Given the description of an element on the screen output the (x, y) to click on. 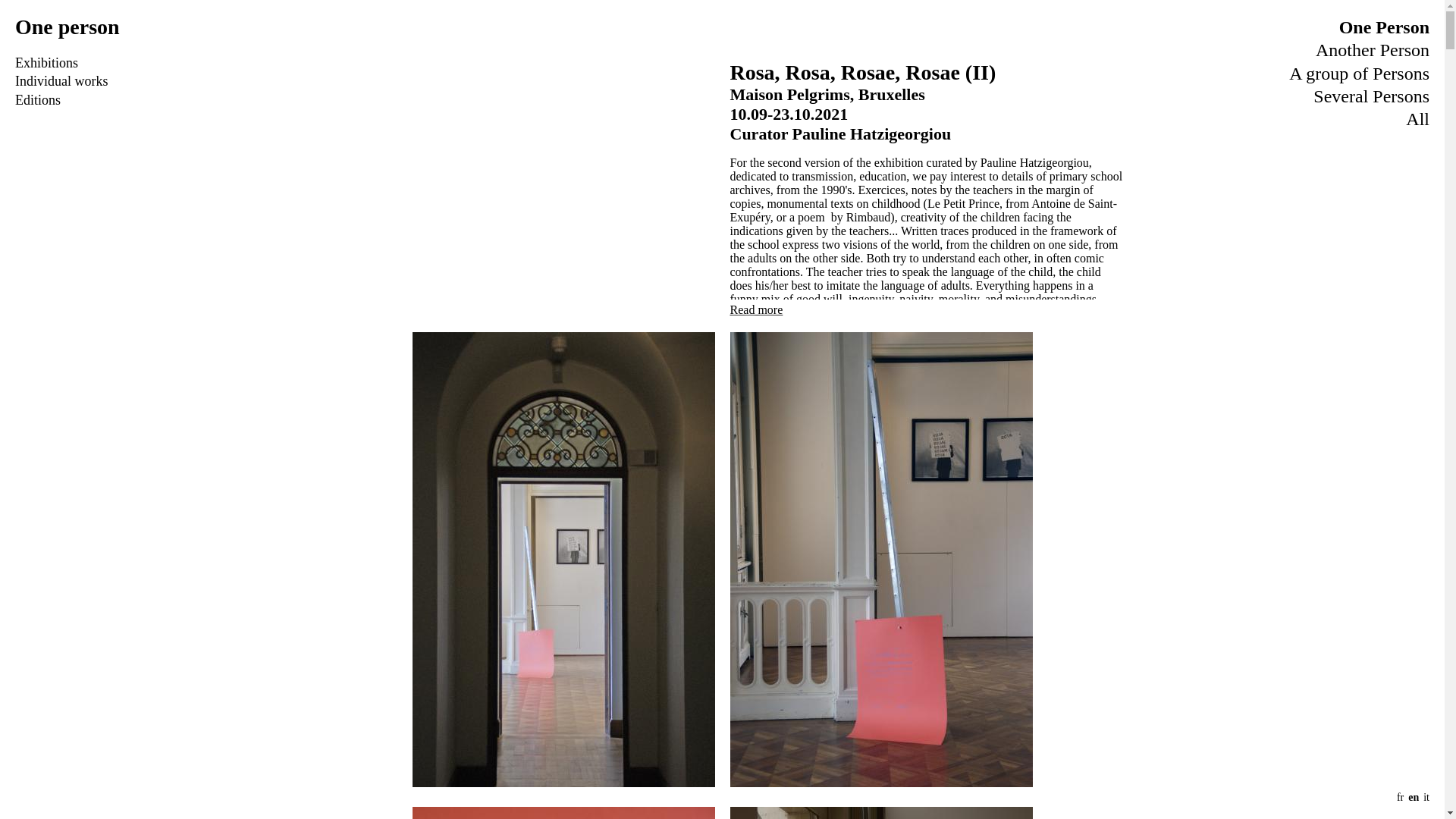
Exhibitions (46, 62)
Individual works (60, 80)
Another Person (1372, 49)
All (1417, 118)
One Person (1384, 26)
Several Persons (1371, 96)
Read more (756, 307)
Editions (37, 99)
A group of Persons (1358, 73)
en (1412, 797)
